Given the description of an element on the screen output the (x, y) to click on. 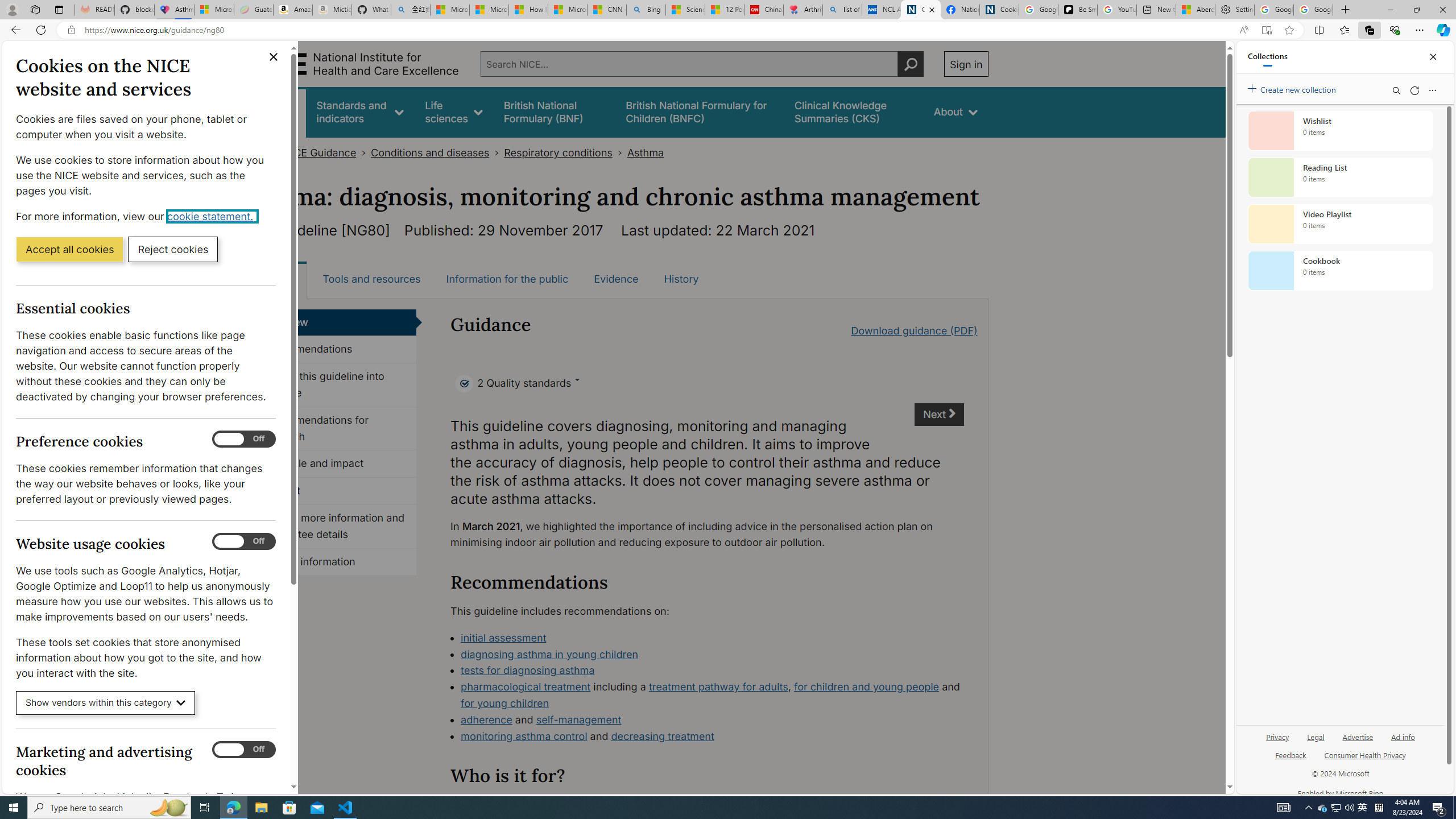
treatment pathway for adults (717, 686)
History (681, 279)
Reading List collection, 0 items (1339, 177)
Rationale and impact (333, 463)
Cookbook collection, 0 items (1339, 270)
Update information (333, 561)
History (681, 279)
Rationale and impact (333, 463)
Evidence (616, 279)
